Given the description of an element on the screen output the (x, y) to click on. 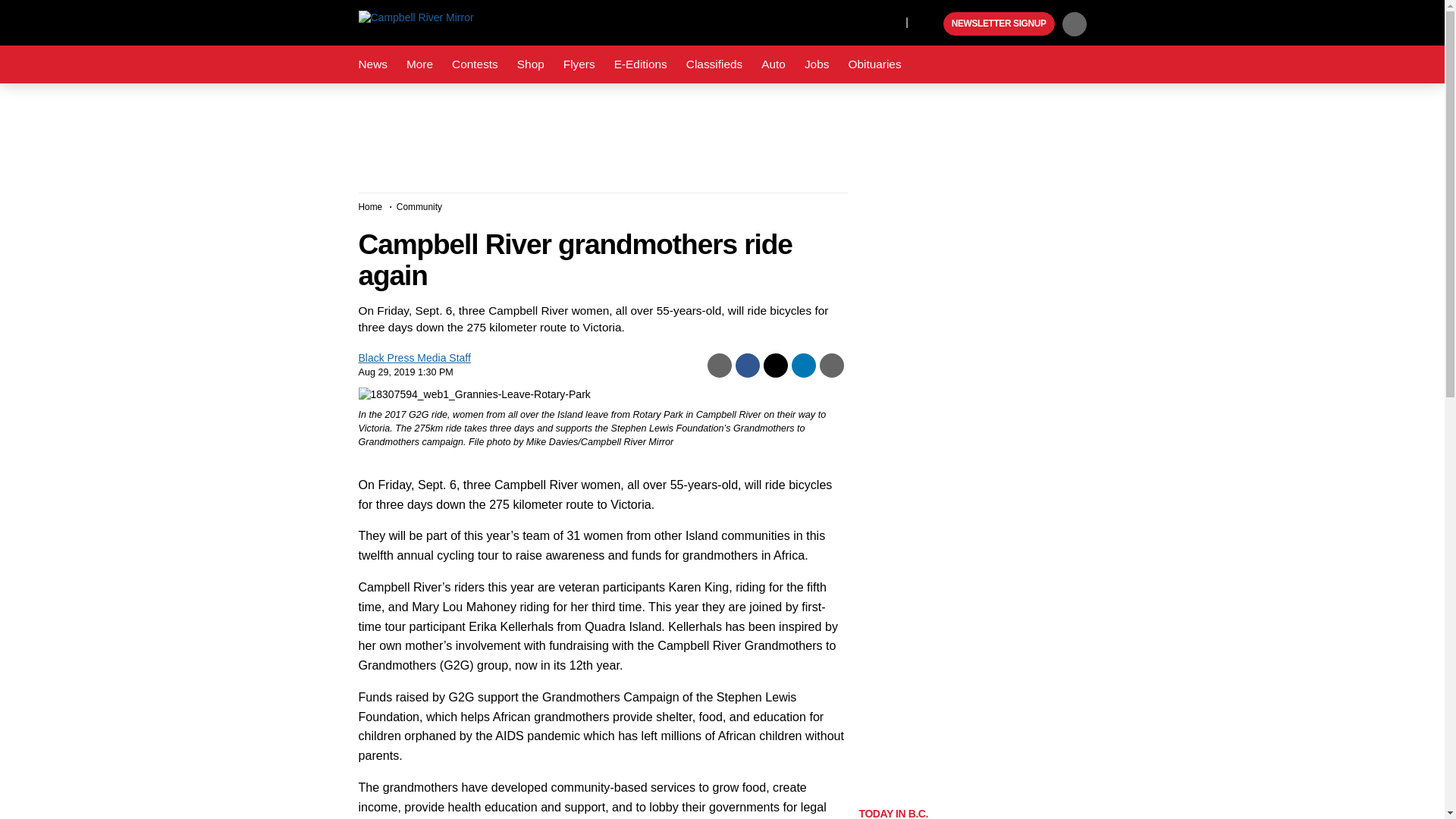
Play (929, 24)
News (372, 64)
NEWSLETTER SIGNUP (998, 24)
X (889, 21)
Black Press Media (929, 24)
